Given the description of an element on the screen output the (x, y) to click on. 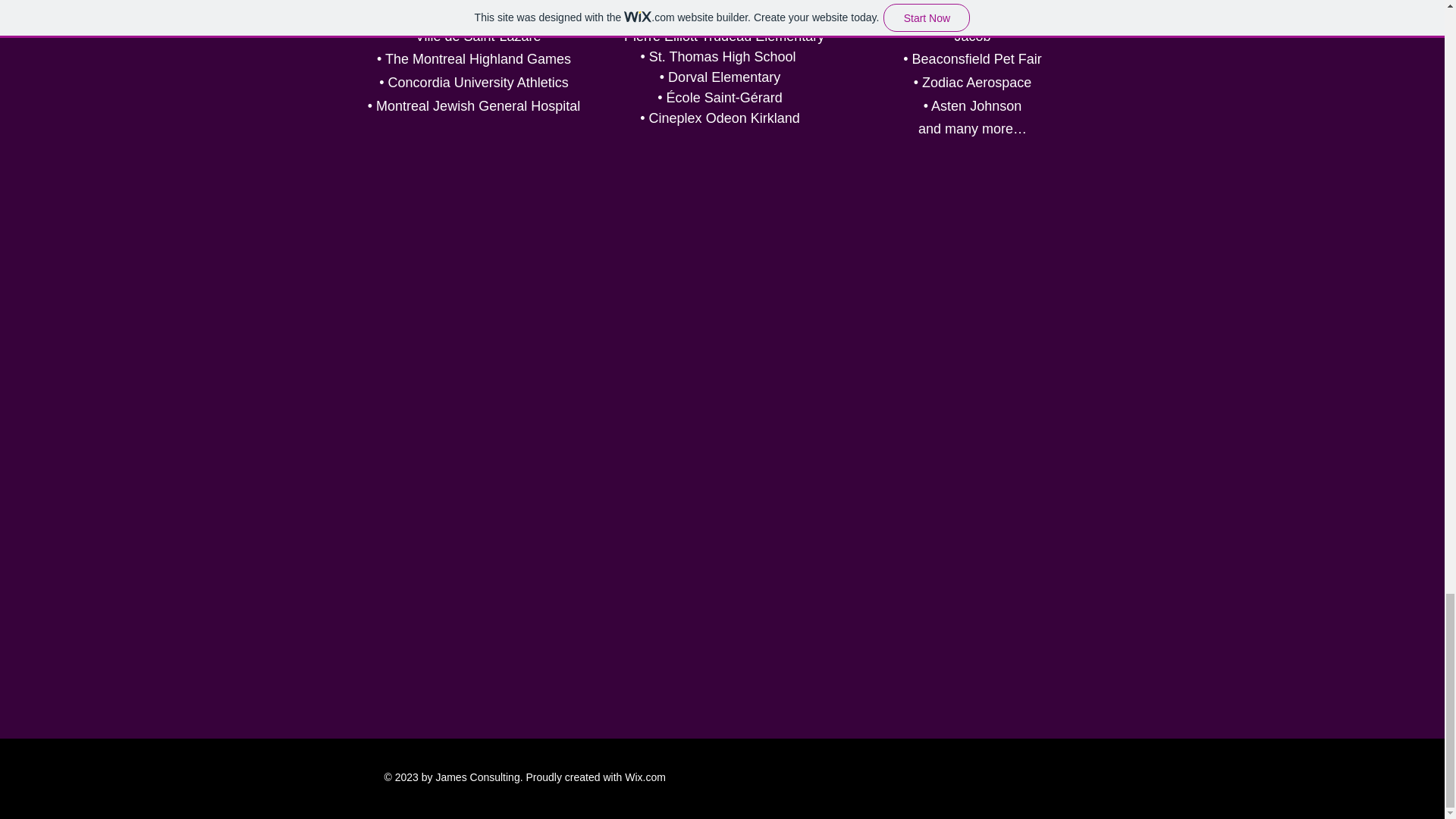
Wix.com (644, 776)
